Given the description of an element on the screen output the (x, y) to click on. 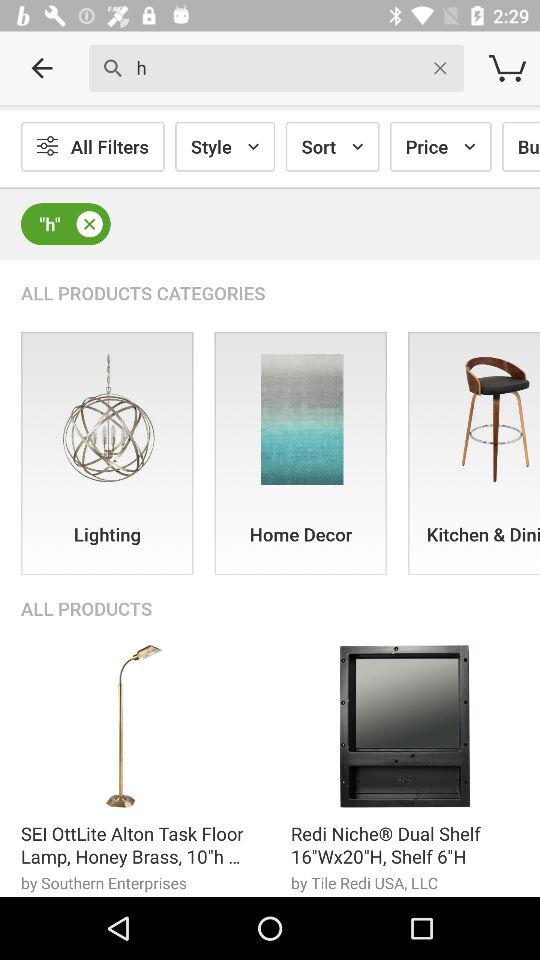
select the close button (89, 224)
